Given the description of an element on the screen output the (x, y) to click on. 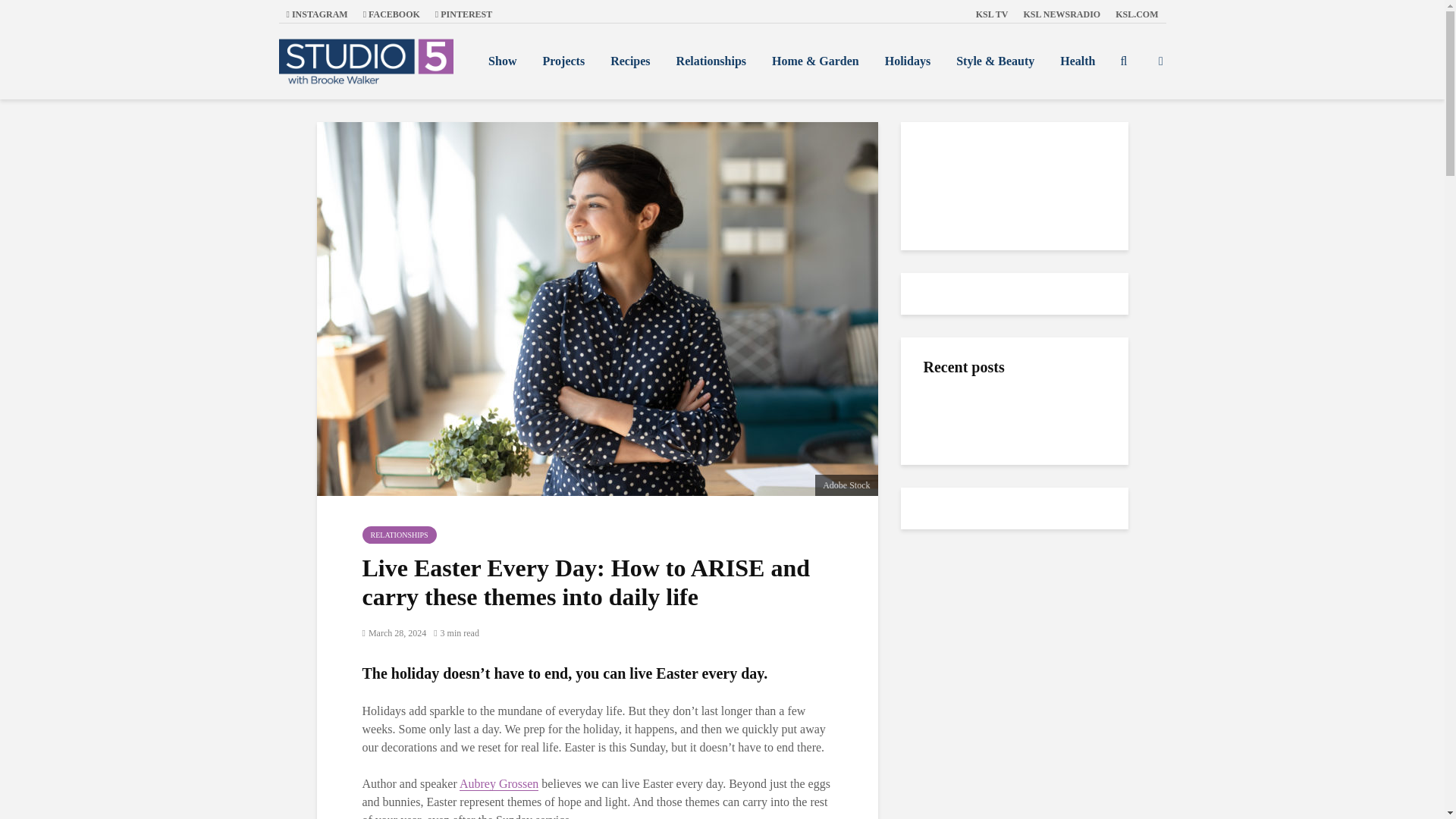
Relationships (711, 60)
Recipes (629, 60)
RELATIONSHIPS (399, 534)
Aubrey Grossen (499, 784)
PINTEREST (463, 14)
Show (502, 60)
Health (1077, 60)
INSTAGRAM (317, 14)
Projects (563, 60)
KSL.COM (1137, 14)
KSL TV (992, 14)
FACEBOOK (391, 14)
KSL NEWSRADIO (1061, 14)
Holidays (907, 60)
